Given the description of an element on the screen output the (x, y) to click on. 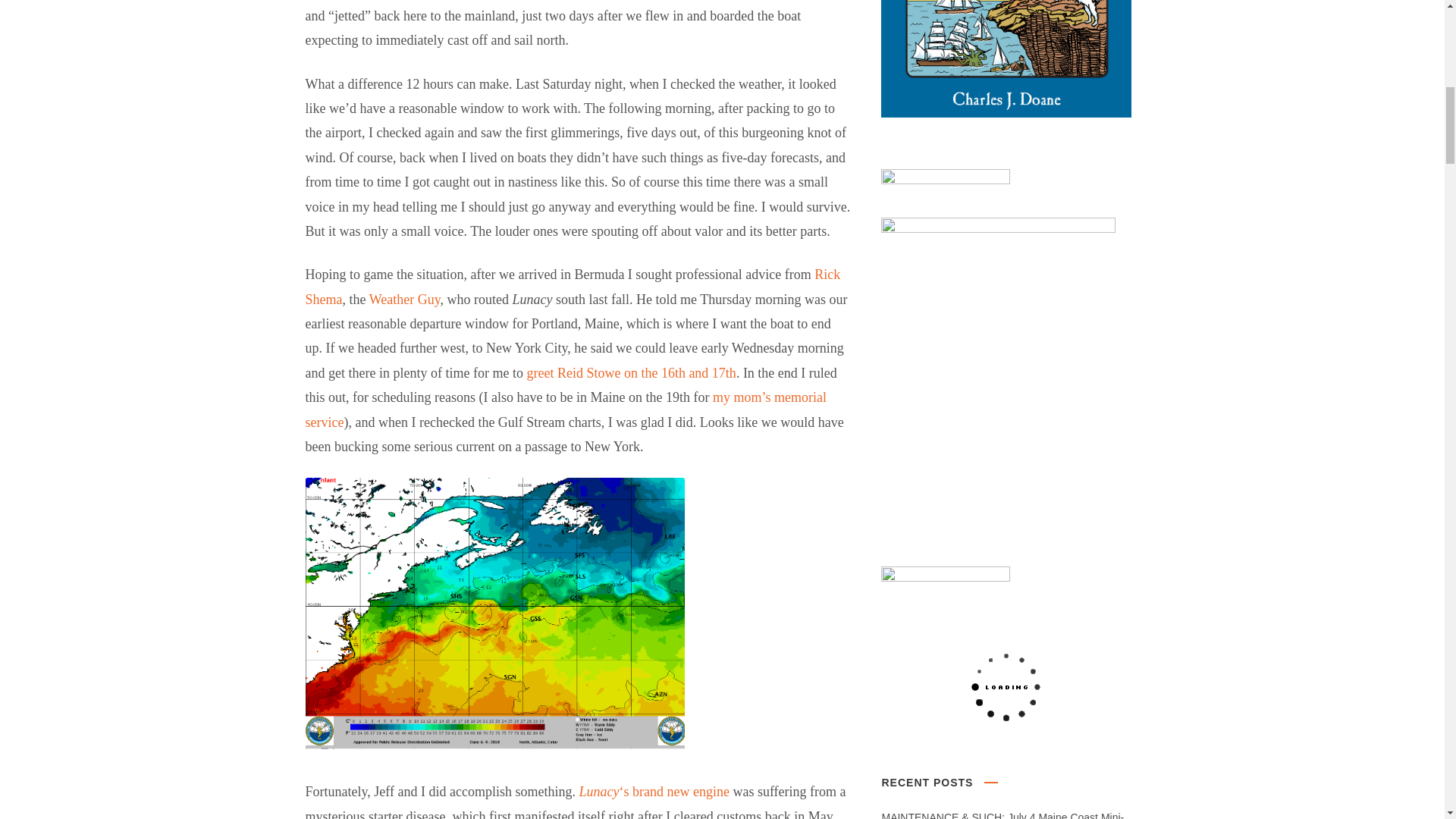
Rick Shema page at Weather Guy site (572, 286)
greet Reid Stowe on the 16th and 17th (630, 372)
Rick Shema (572, 286)
Lunacy (598, 791)
WaveTrain link (630, 372)
Weather Guy website (405, 299)
Weather Guy (405, 299)
WaveTrain link (564, 409)
